Given the description of an element on the screen output the (x, y) to click on. 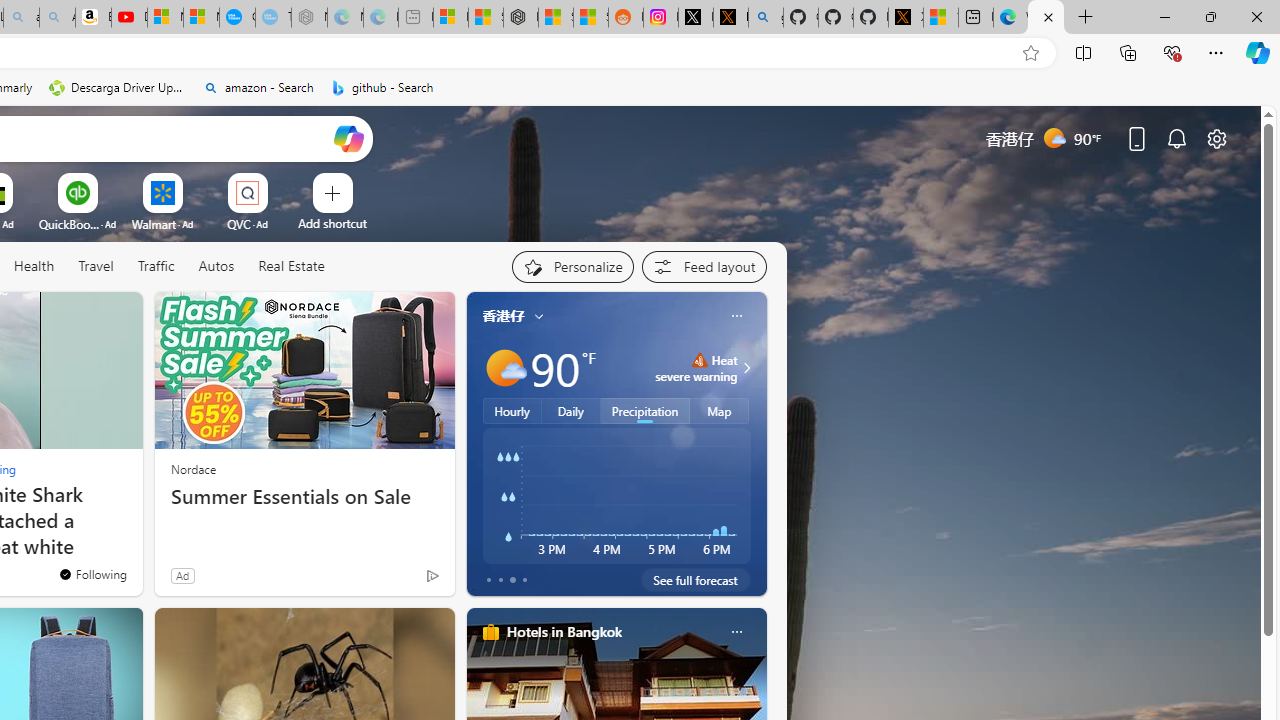
Amazon Echo Dot PNG - Search Images - Sleeping (57, 17)
Class: weather-arrow-glyph (746, 367)
Open Copilot (347, 138)
Hotels in Bangkok (563, 631)
github - Search (765, 17)
Copilot (Ctrl+Shift+.) (1258, 52)
New Tab (1085, 17)
Restore (1210, 16)
Hide this story (82, 315)
tab-2 (511, 579)
Collections (1128, 52)
